Given the description of an element on the screen output the (x, y) to click on. 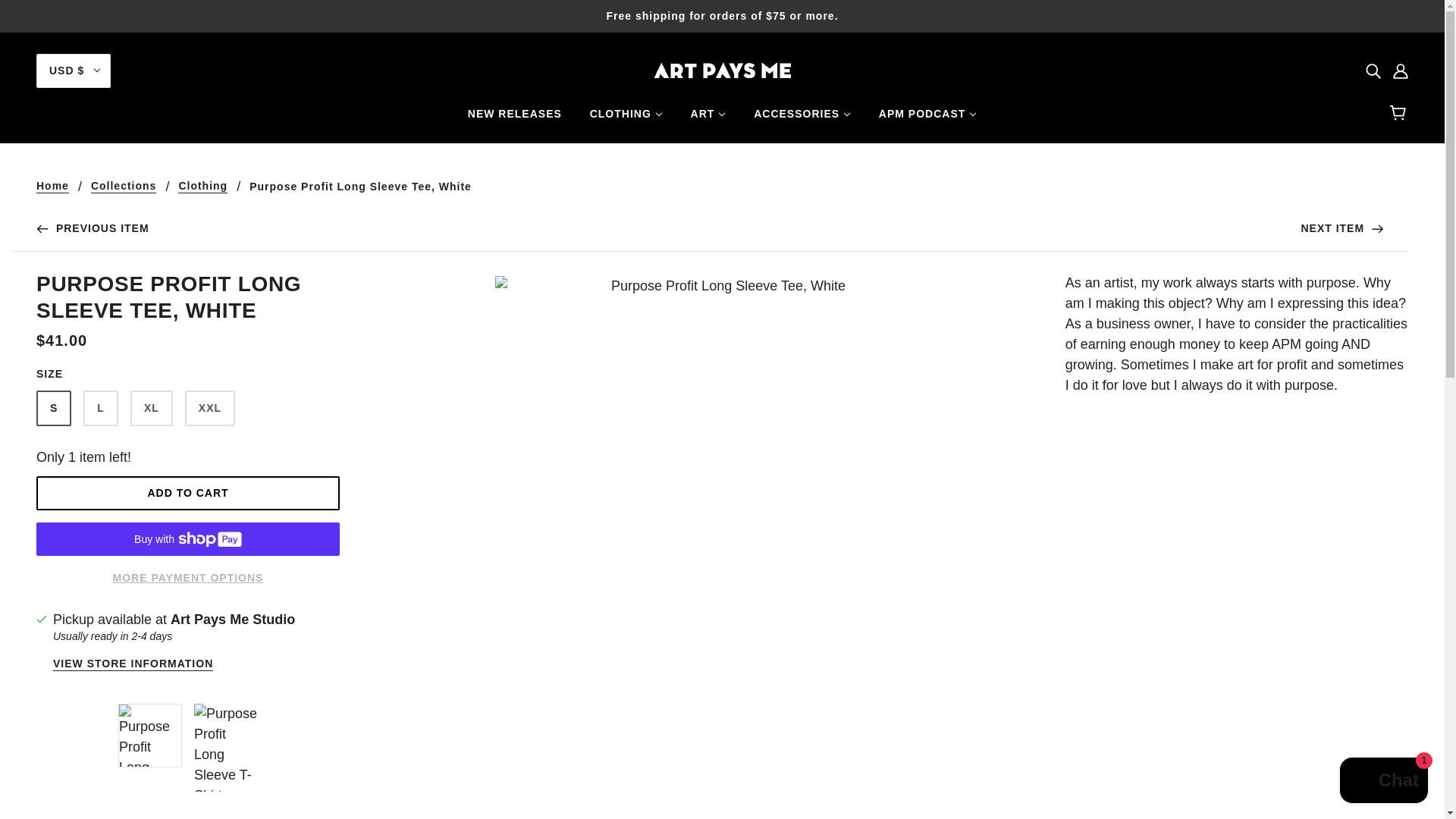
Logo Sweatshirt Black (92, 228)
Shopify online store chat (1383, 781)
Logo Sweatshirt Red (1342, 228)
Art Pays Me (721, 69)
